Given the description of an element on the screen output the (x, y) to click on. 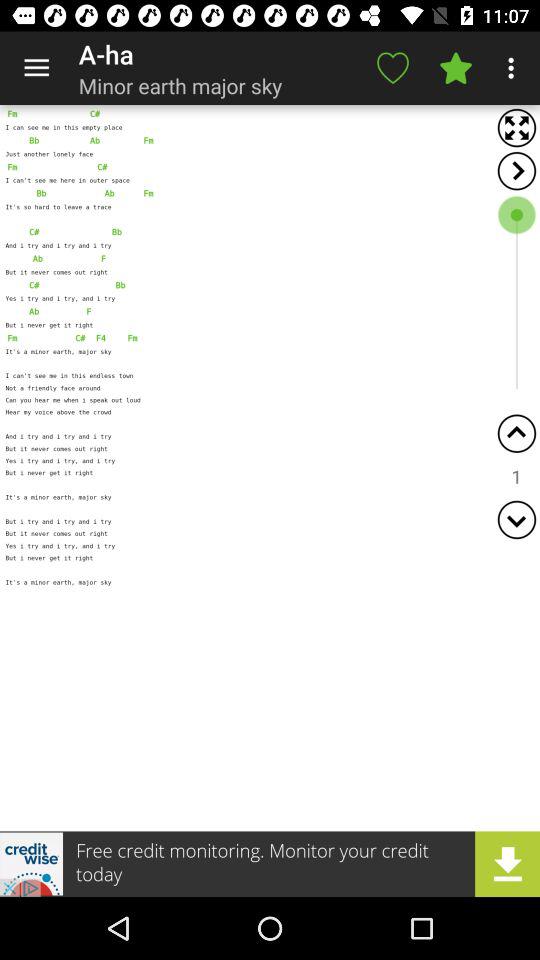
go to previous page (516, 433)
